Given the description of an element on the screen output the (x, y) to click on. 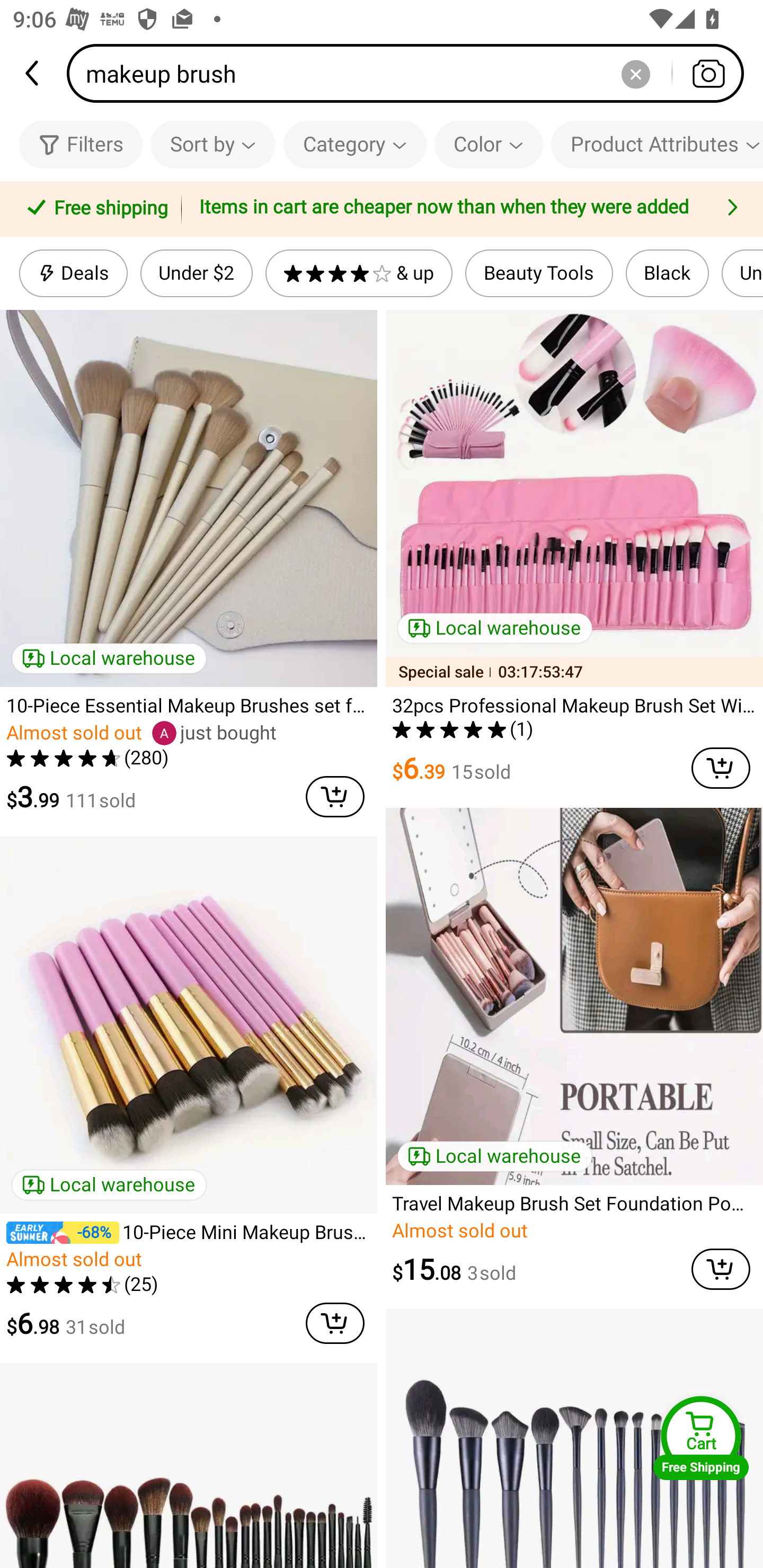
back (33, 72)
makeup brush (411, 73)
Delete search history (635, 73)
Search by photo (708, 73)
Filters (80, 143)
Sort by (212, 143)
Category (354, 143)
Color (488, 143)
Product Attributes (656, 143)
 Free shipping (93, 208)
Deals (73, 273)
Under $2 (196, 273)
& up (358, 273)
Beauty Tools (538, 273)
Black (666, 273)
Cart Free Shipping Cart (701, 1437)
